Given the description of an element on the screen output the (x, y) to click on. 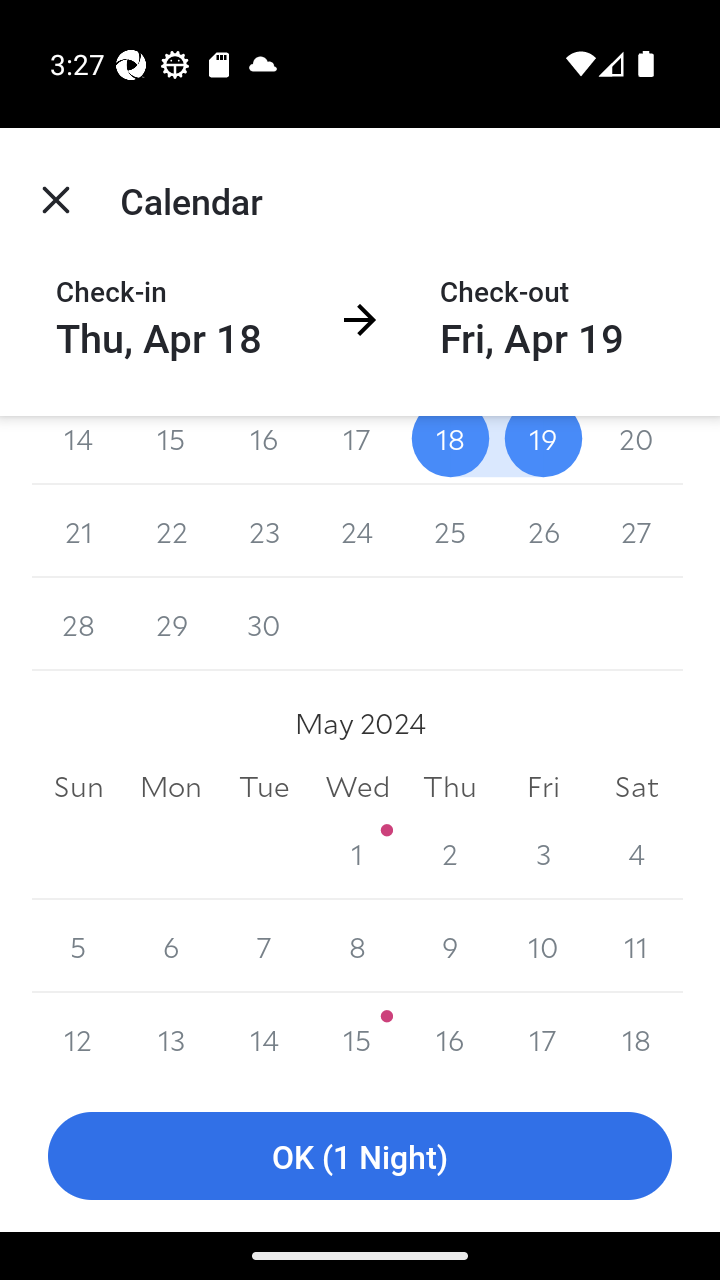
14 14 April 2024 (78, 450)
15 15 April 2024 (171, 450)
16 16 April 2024 (264, 450)
17 17 April 2024 (357, 450)
18 18 April 2024 (449, 450)
19 19 April 2024 (542, 450)
20 20 April 2024 (636, 450)
21 21 April 2024 (78, 531)
22 22 April 2024 (171, 531)
23 23 April 2024 (264, 531)
24 24 April 2024 (357, 531)
25 25 April 2024 (449, 531)
26 26 April 2024 (542, 531)
27 27 April 2024 (636, 531)
28 28 April 2024 (78, 624)
29 29 April 2024 (171, 624)
30 30 April 2024 (264, 624)
Sun (78, 785)
Mon (171, 785)
Tue (264, 785)
Wed (357, 785)
Thu (449, 785)
Fri (542, 785)
Sat (636, 785)
1 1 May 2024 (357, 852)
2 2 May 2024 (449, 852)
3 3 May 2024 (542, 852)
4 4 May 2024 (636, 852)
5 5 May 2024 (78, 946)
6 6 May 2024 (171, 946)
7 7 May 2024 (264, 946)
8 8 May 2024 (357, 946)
9 9 May 2024 (449, 946)
10 10 May 2024 (542, 946)
11 11 May 2024 (636, 946)
12 12 May 2024 (78, 1036)
13 13 May 2024 (171, 1036)
14 14 May 2024 (264, 1036)
15 15 May 2024 (357, 1036)
16 16 May 2024 (449, 1036)
17 17 May 2024 (542, 1036)
18 18 May 2024 (636, 1036)
OK (1 Night) (359, 1156)
